Given the description of an element on the screen output the (x, y) to click on. 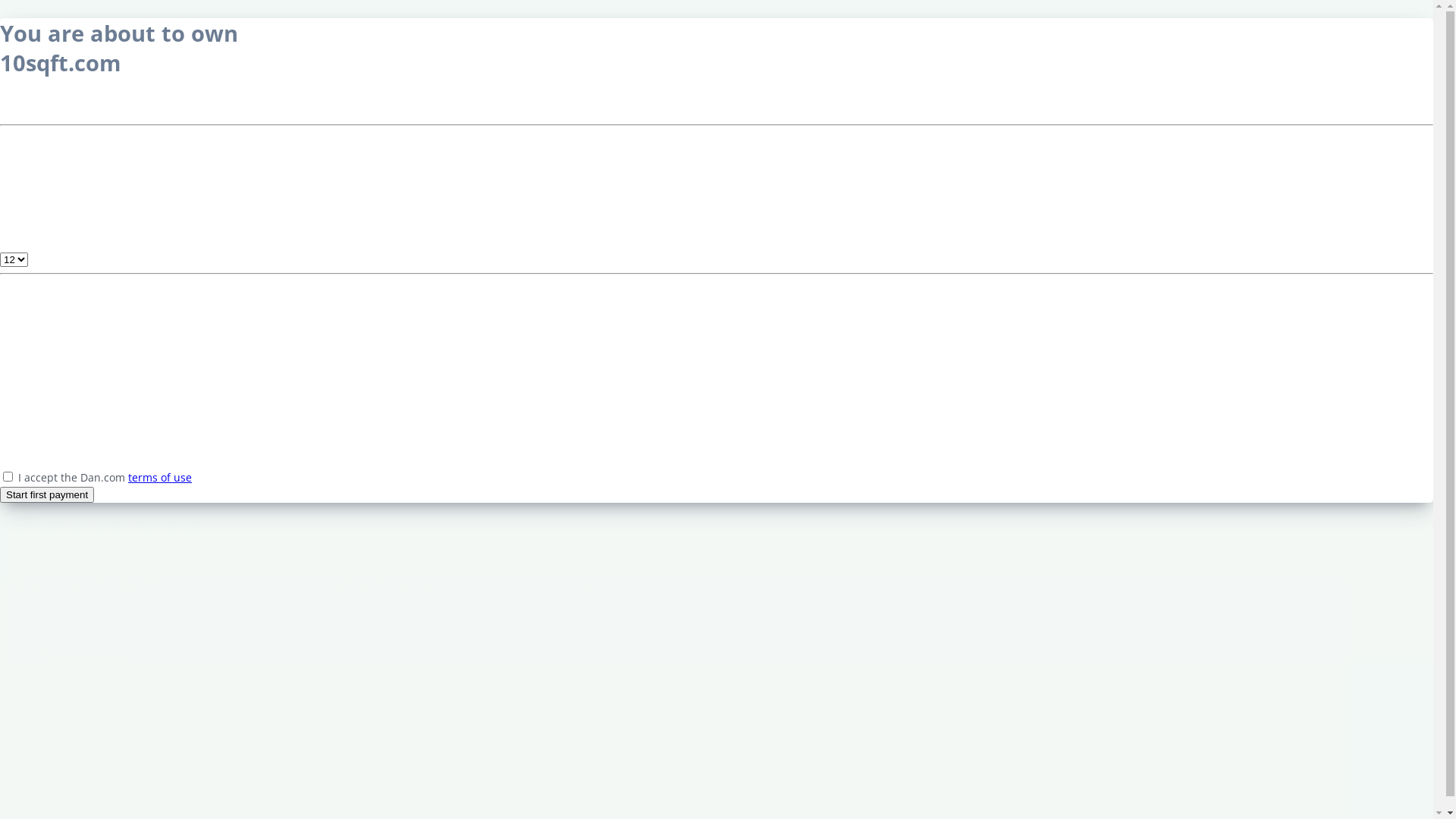
terms of use Element type: text (159, 477)
Buy now for USD 4,995 Element type: text (70, 435)
Start first payment Element type: text (47, 494)
Lease to own now Element type: text (57, 402)
Or make an offer Element type: text (54, 452)
Or Buy Now Element type: text (90, 651)
